Given the description of an element on the screen output the (x, y) to click on. 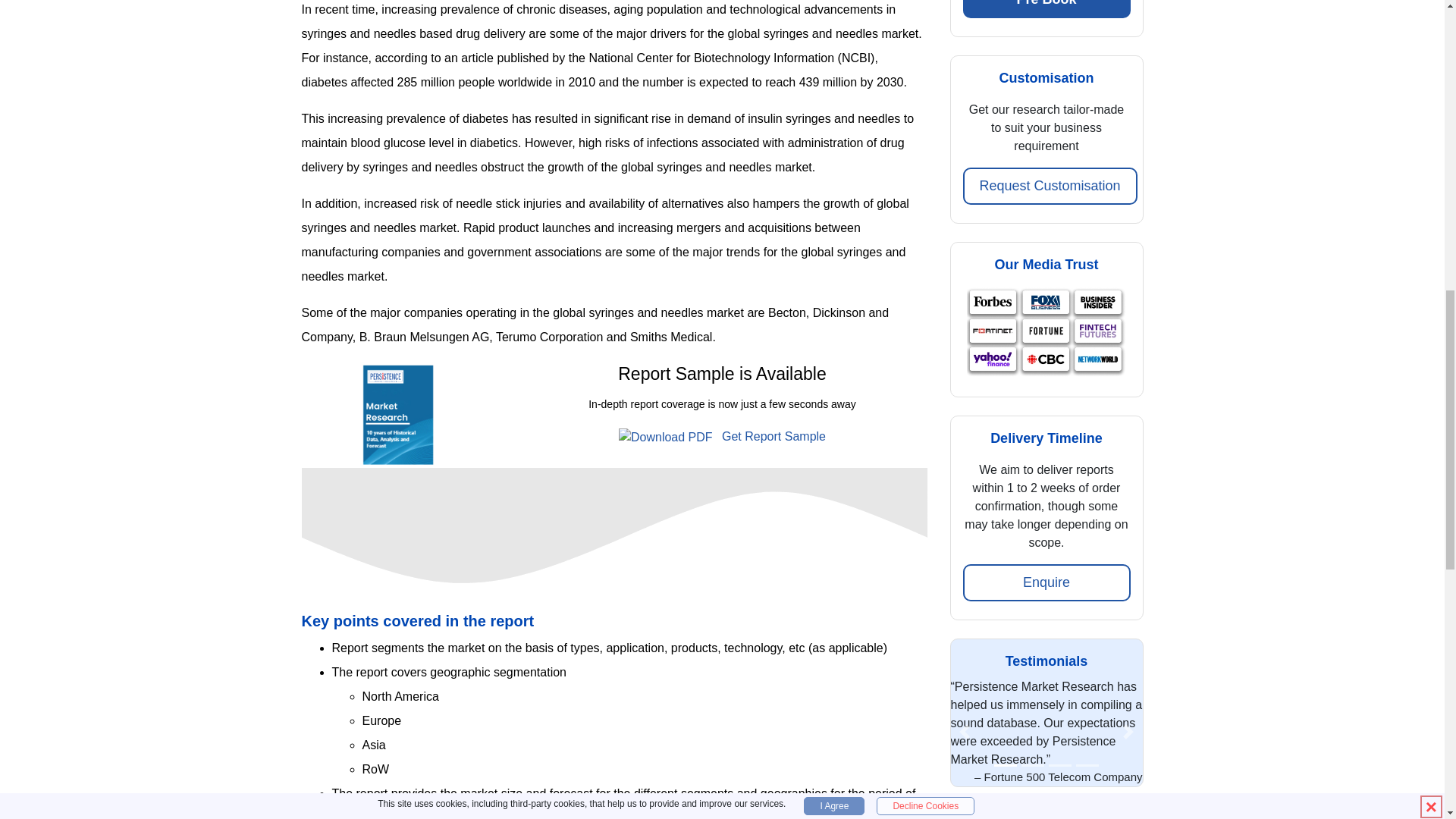
Request Customisation (1049, 185)
Pre Book (1046, 9)
Get Report Sample (721, 437)
Enquire (1046, 582)
